Given the description of an element on the screen output the (x, y) to click on. 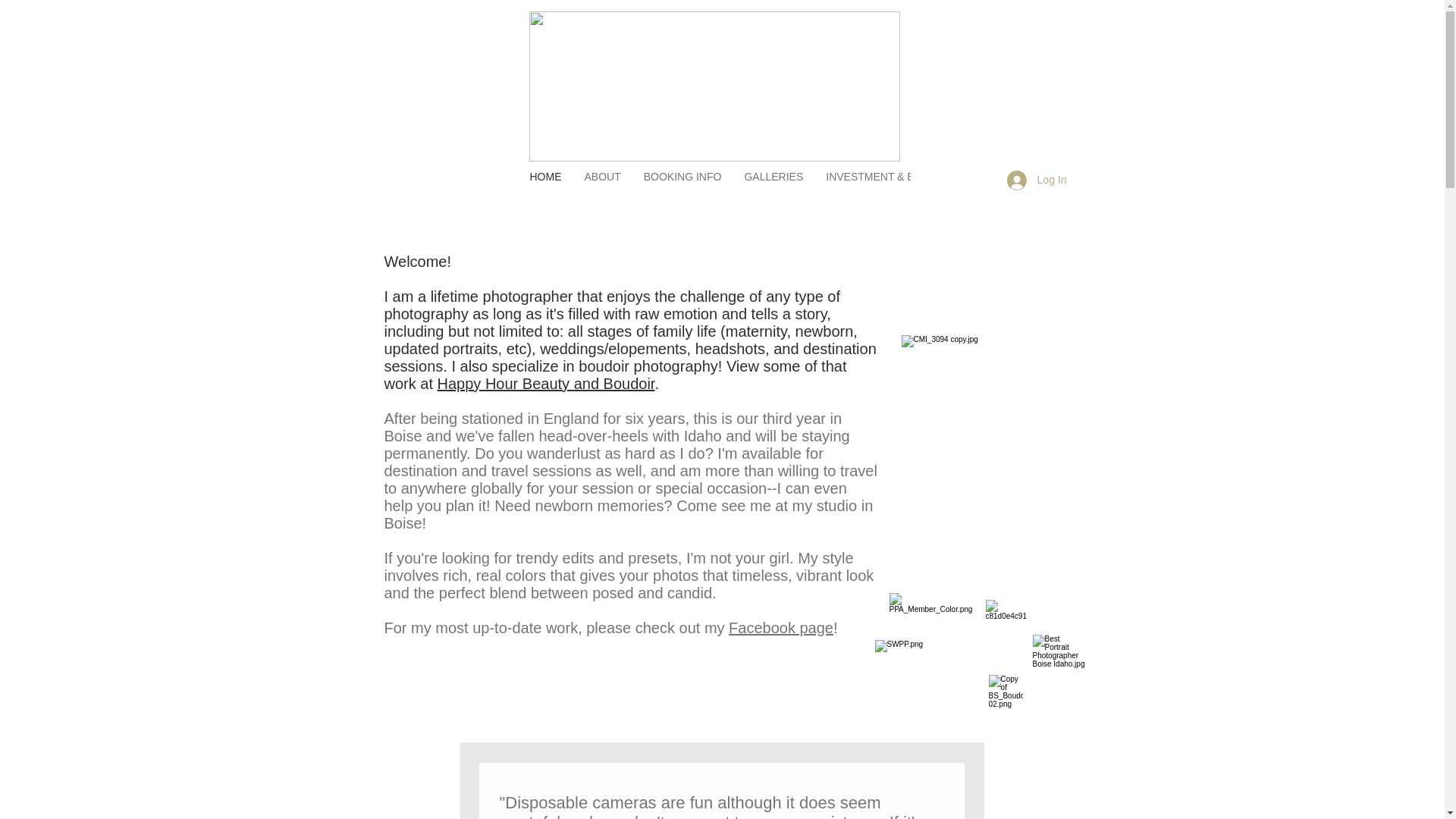
Happy Hour Beauty and Boudoir (546, 383)
ABOUT (602, 179)
Log In (1036, 179)
Facebook page (780, 627)
BOOKING INFO (682, 179)
GALLERIES (772, 179)
HOME (545, 179)
